Given the description of an element on the screen output the (x, y) to click on. 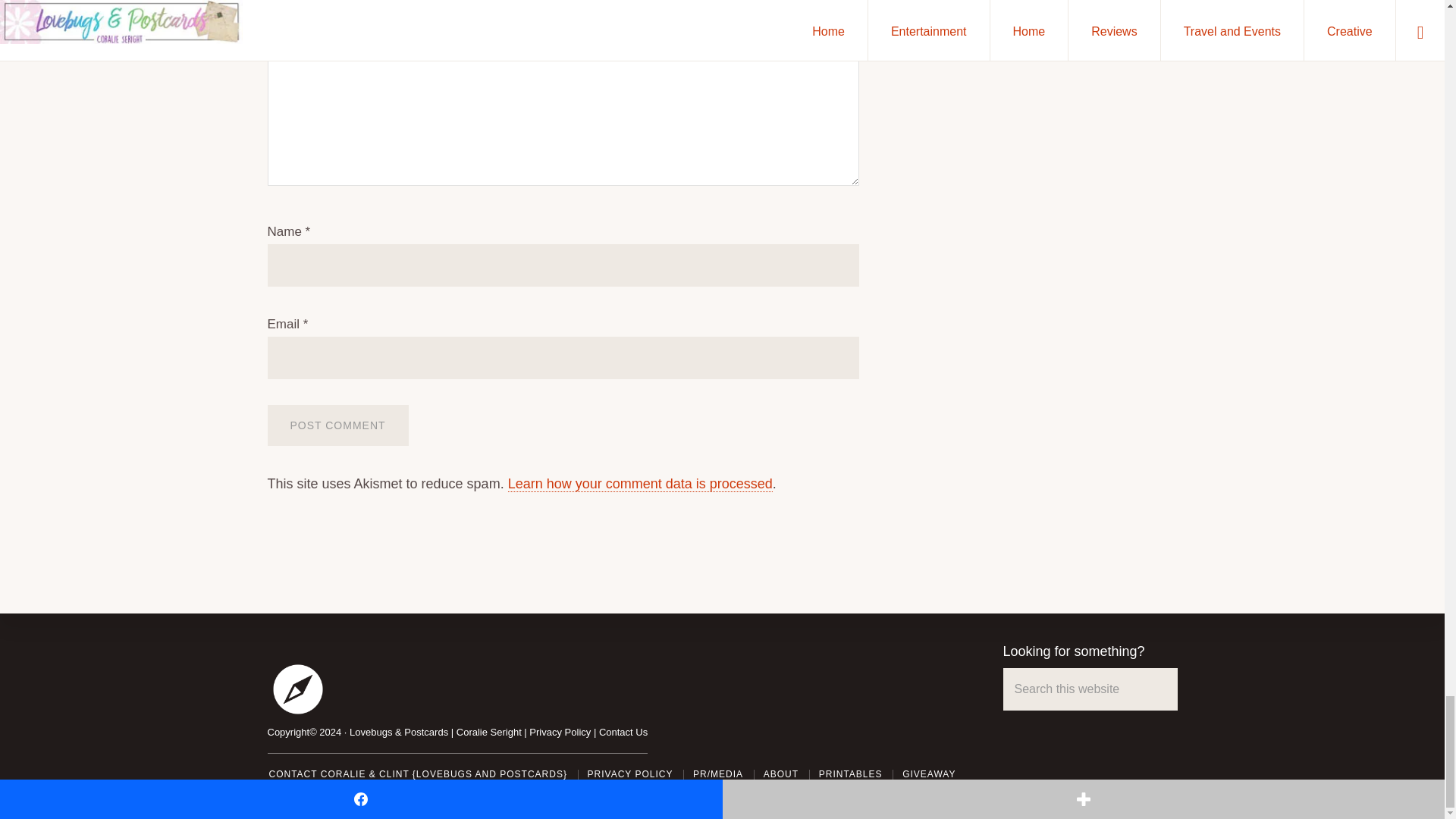
Post Comment (336, 424)
